Given the description of an element on the screen output the (x, y) to click on. 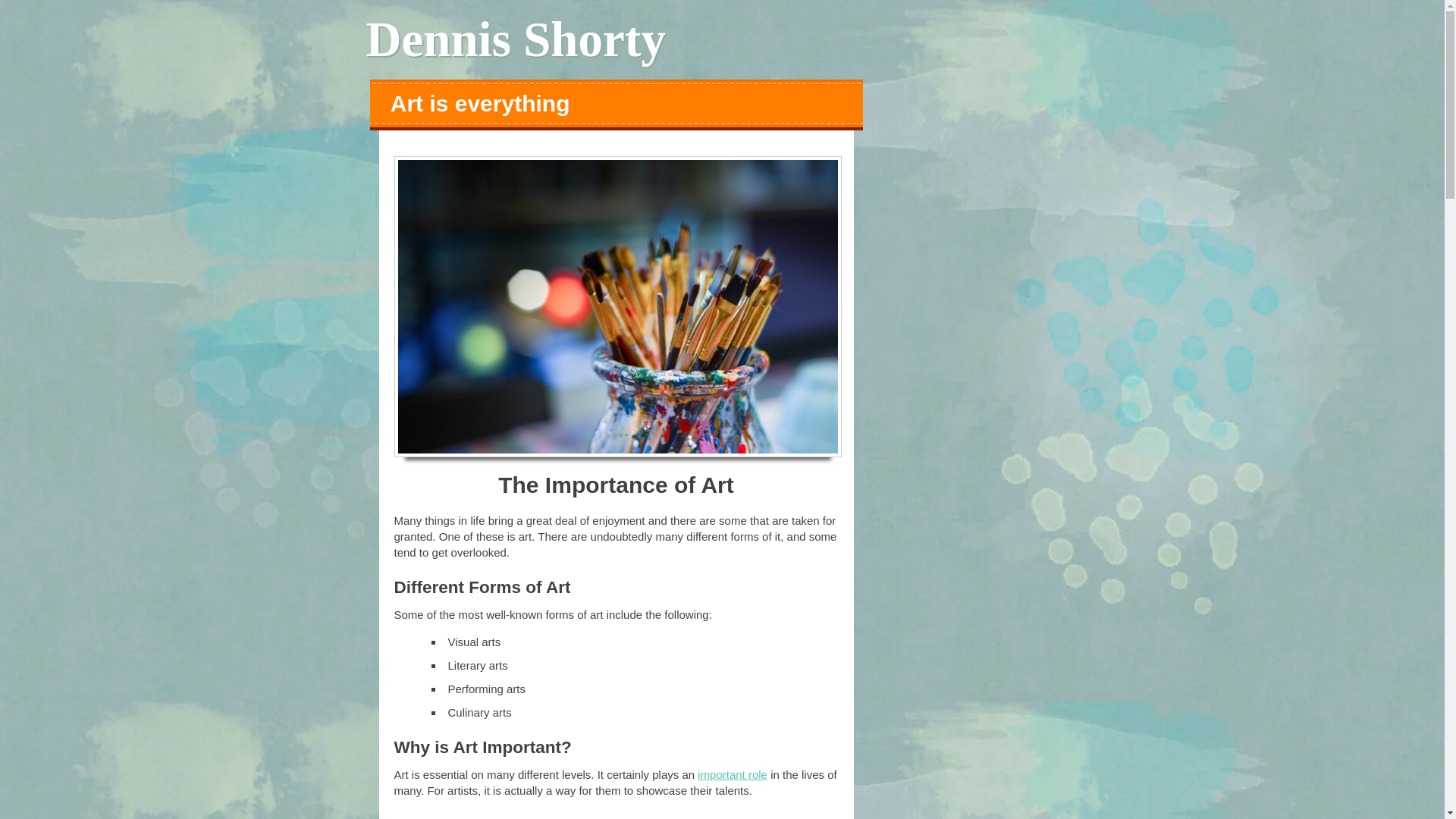
Dennis Shorty (515, 39)
important role (732, 774)
